Given the description of an element on the screen output the (x, y) to click on. 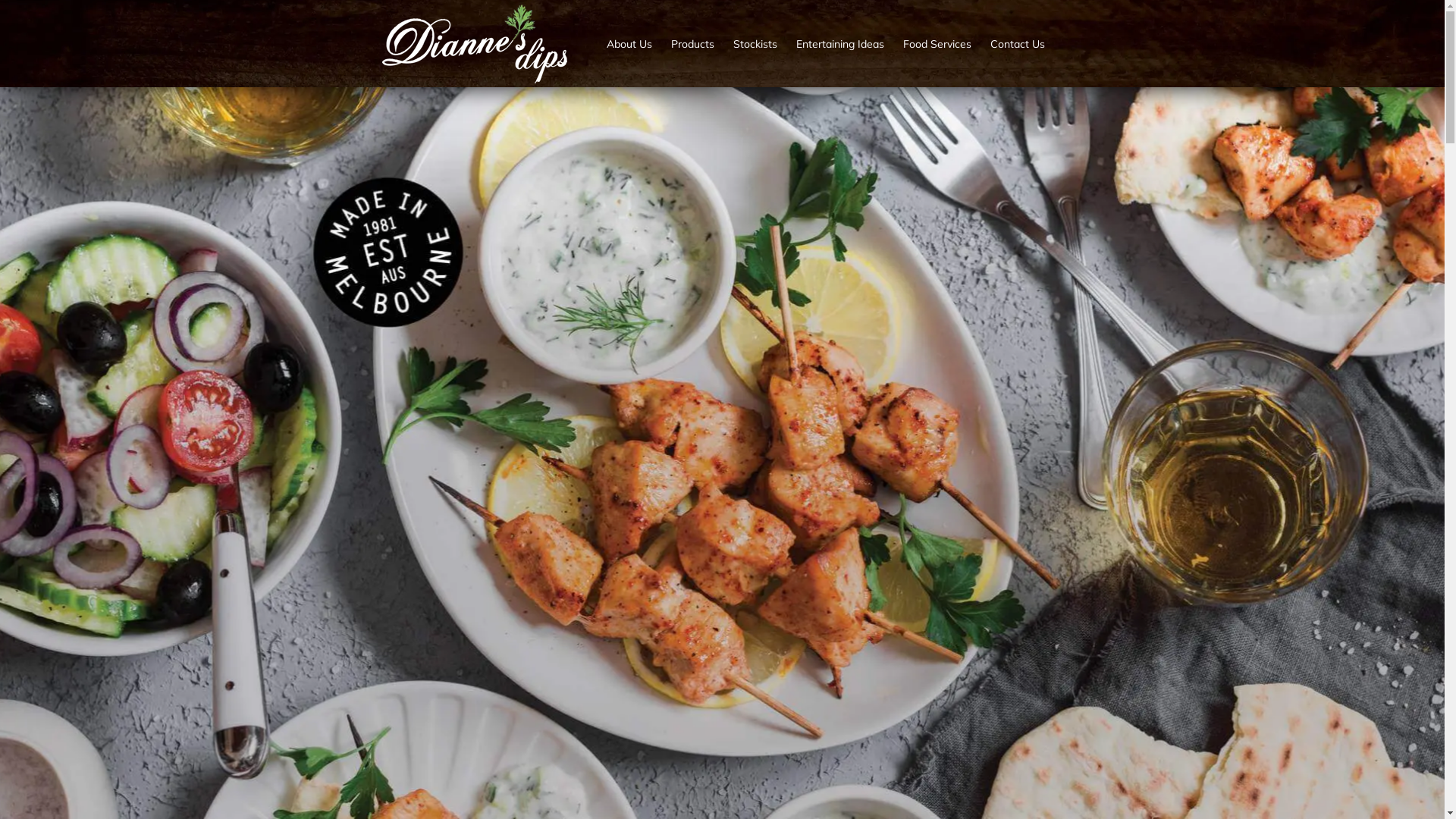
Products Element type: text (691, 43)
Food Services Element type: text (936, 43)
About Us Element type: text (629, 43)
Entertaining Ideas Element type: text (840, 43)
Stockists Element type: text (754, 43)
Contact Us Element type: text (1017, 43)
